Given the description of an element on the screen output the (x, y) to click on. 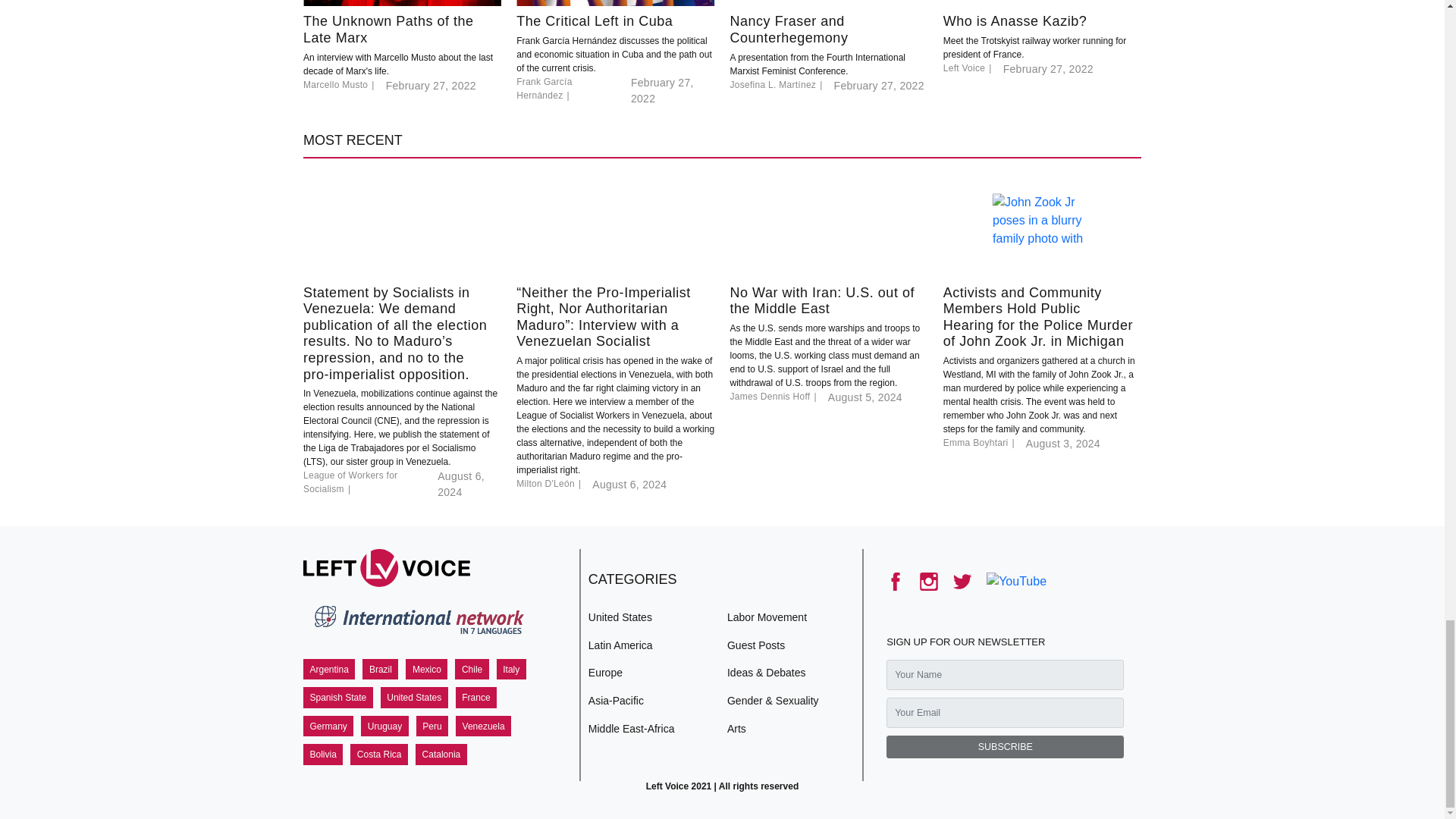
International Network (417, 622)
Left Voice (386, 567)
